Given the description of an element on the screen output the (x, y) to click on. 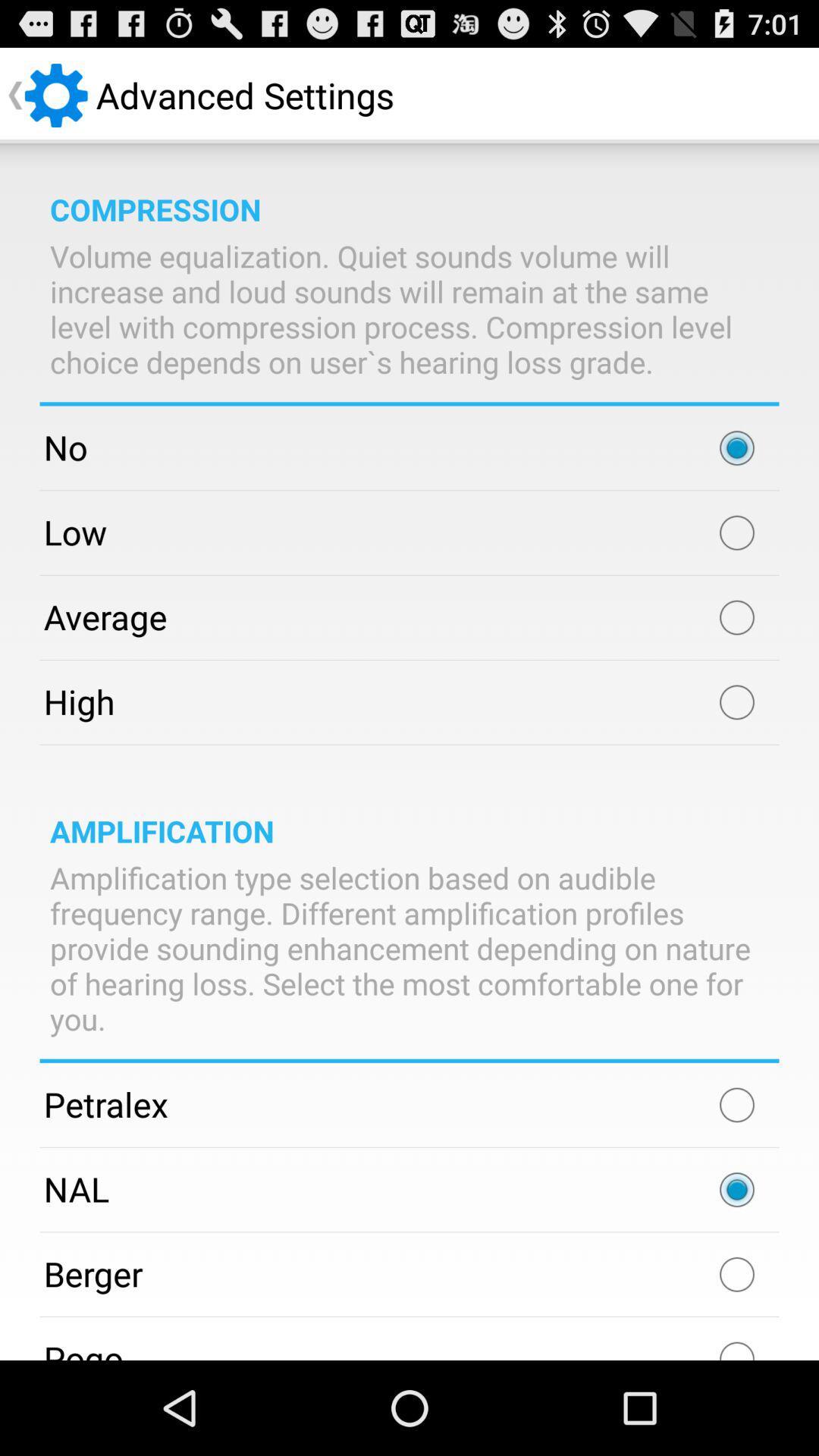
amplify petralex (736, 1104)
